Given the description of an element on the screen output the (x, y) to click on. 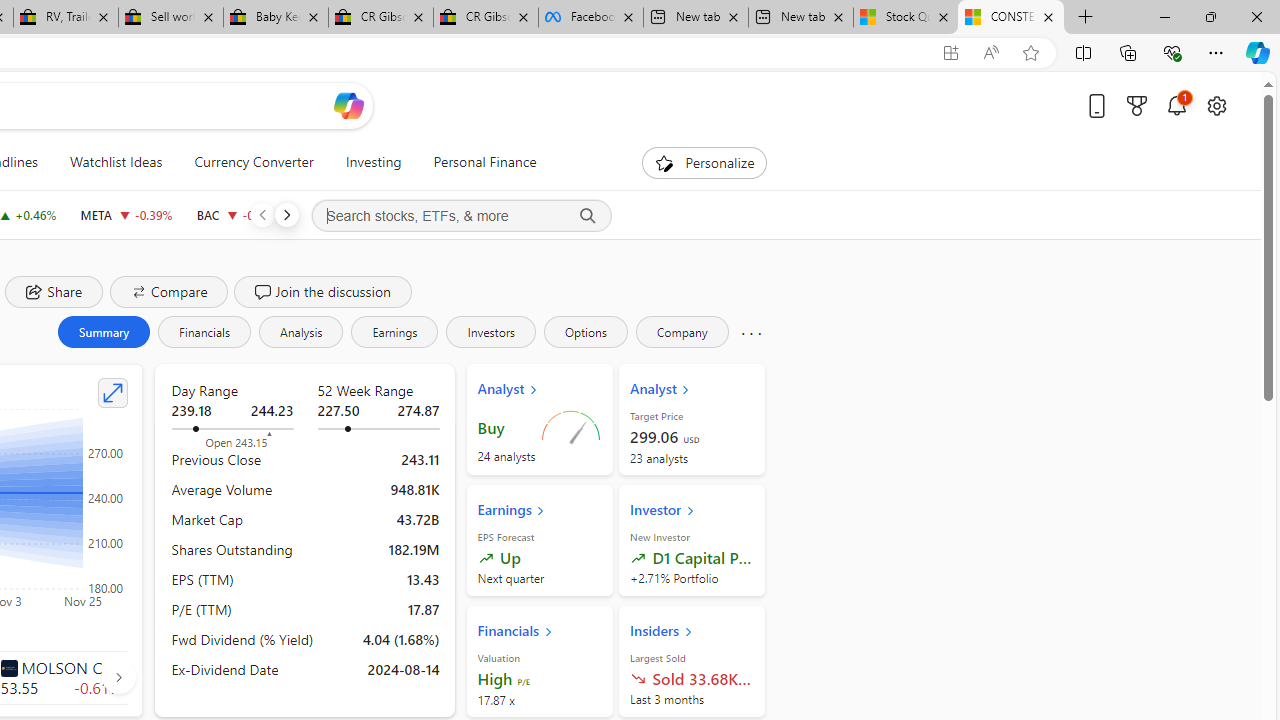
Next (286, 214)
META Meta Platforms, Inc. decrease 519.10 -2.02 -0.39% (126, 214)
Company (681, 331)
Financials (204, 331)
Class: autoSuggestIcon-DS-EntryPoint1-1 (8, 667)
share dialog (53, 291)
Summary (103, 331)
